Given the description of an element on the screen output the (x, y) to click on. 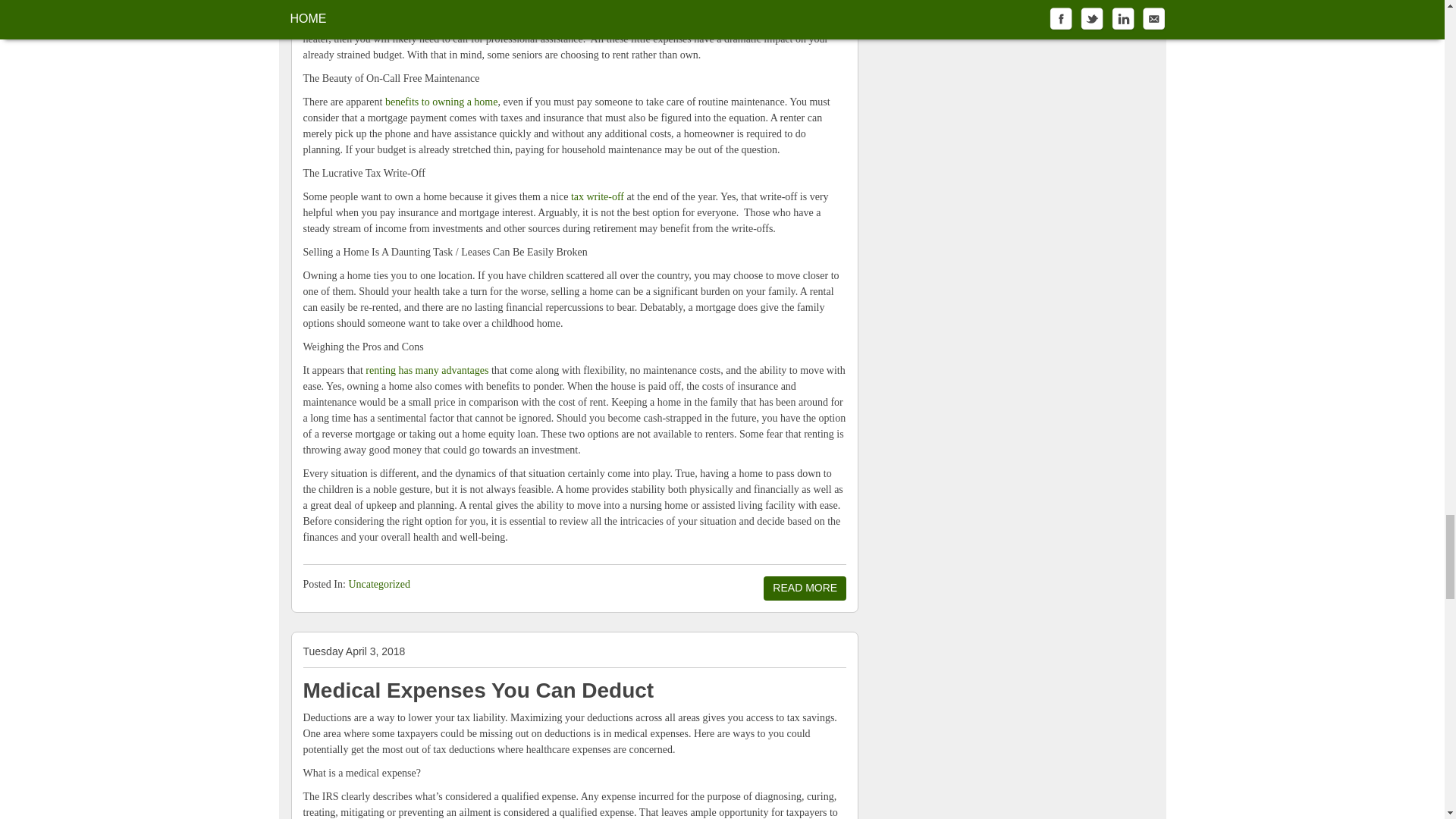
View all posts in Uncategorized (378, 583)
